Given the description of an element on the screen output the (x, y) to click on. 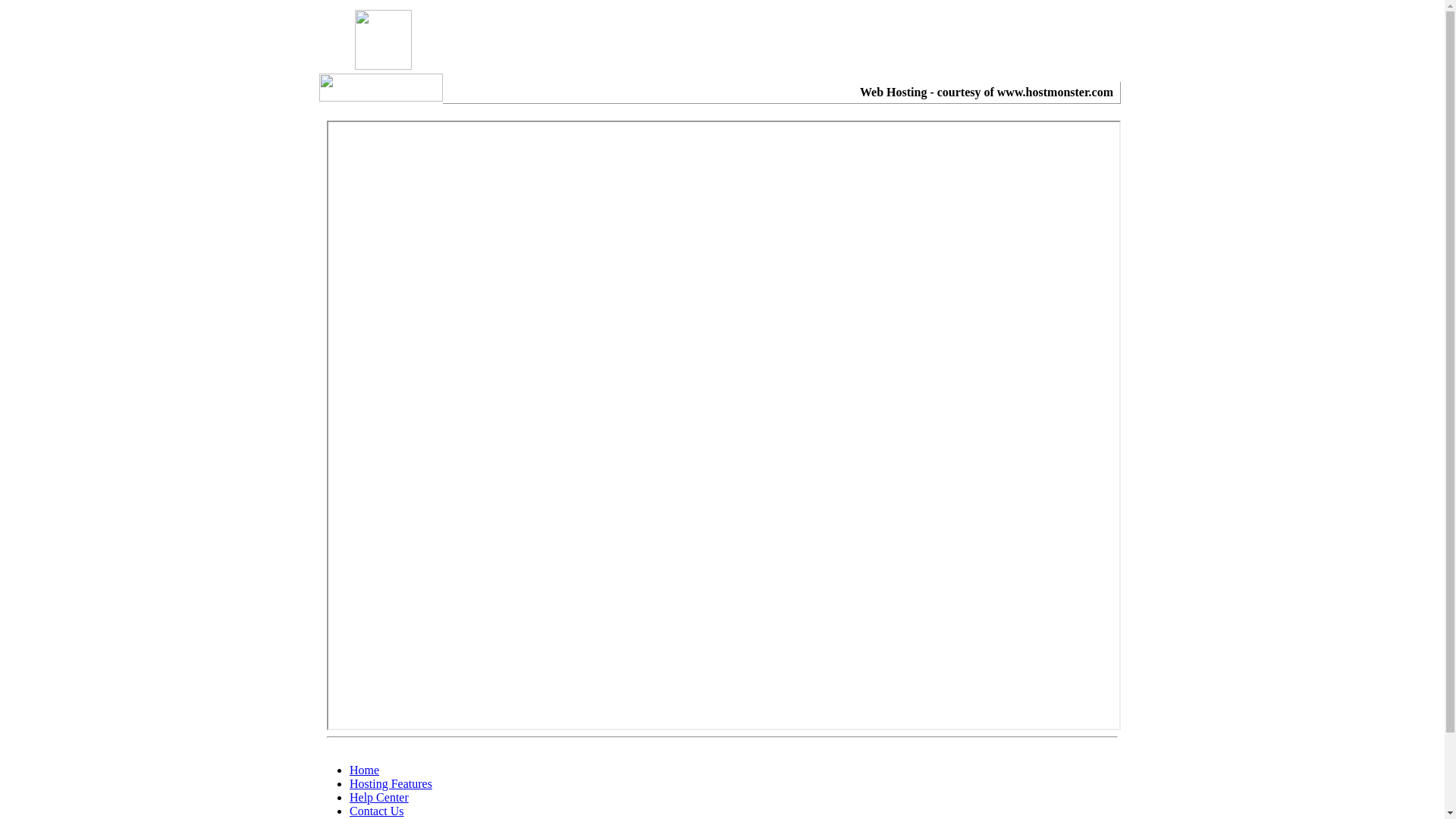
Web Hosting - courtesy of www.hostmonster.com Element type: text (986, 91)
Contact Us Element type: text (376, 810)
Hosting Features Element type: text (390, 783)
Home Element type: text (364, 769)
Help Center Element type: text (378, 796)
